Given the description of an element on the screen output the (x, y) to click on. 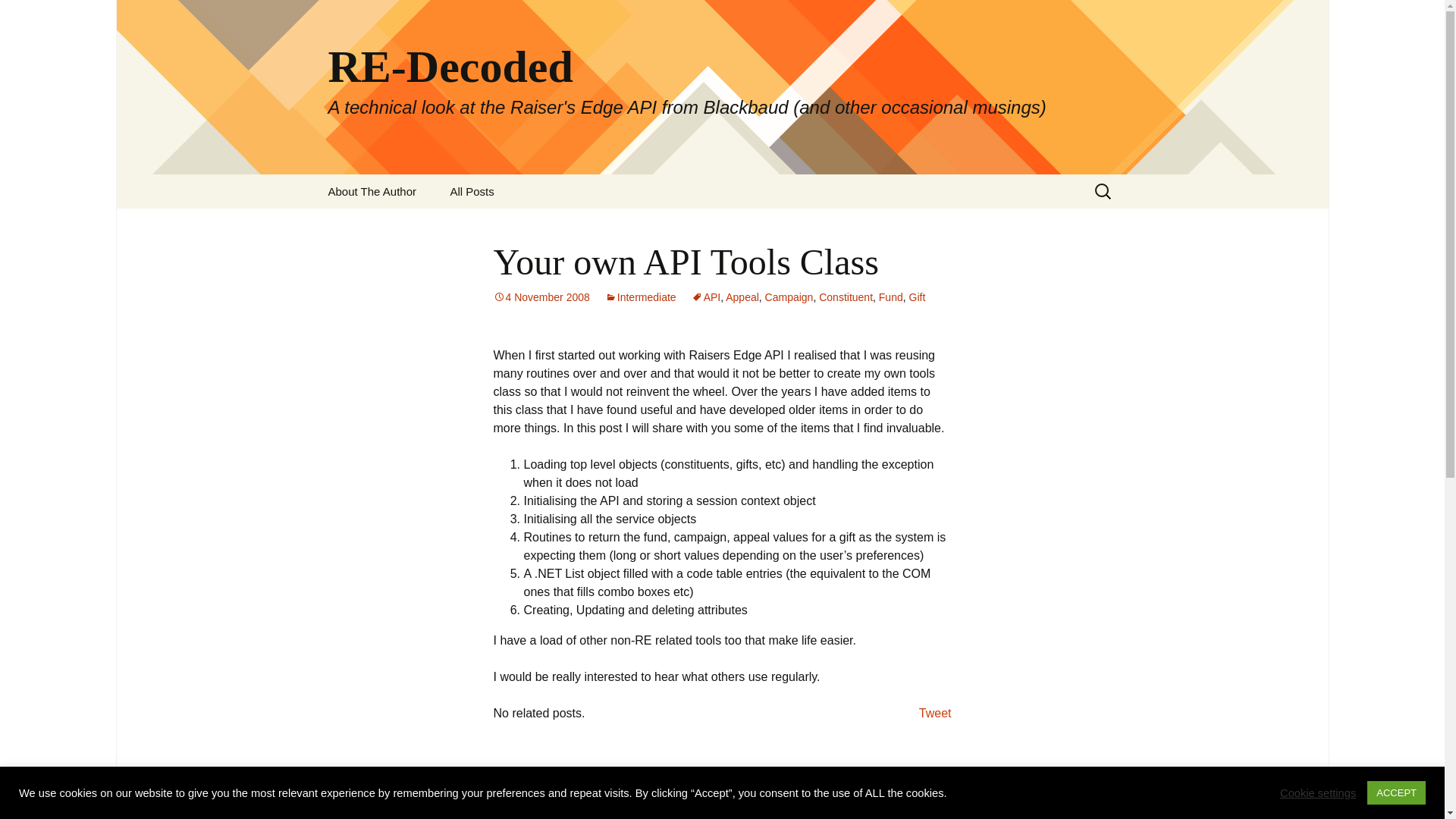
All Posts (470, 191)
4 November 2008 (541, 297)
Permalink to Your own API Tools Class (541, 297)
API (705, 297)
Gift (917, 297)
About The Author (371, 191)
Search (18, 15)
Intermediate (641, 297)
Tweet (935, 712)
Fund (890, 297)
Constituent (845, 297)
Appeal (741, 297)
Campaign (789, 297)
